Given the description of an element on the screen output the (x, y) to click on. 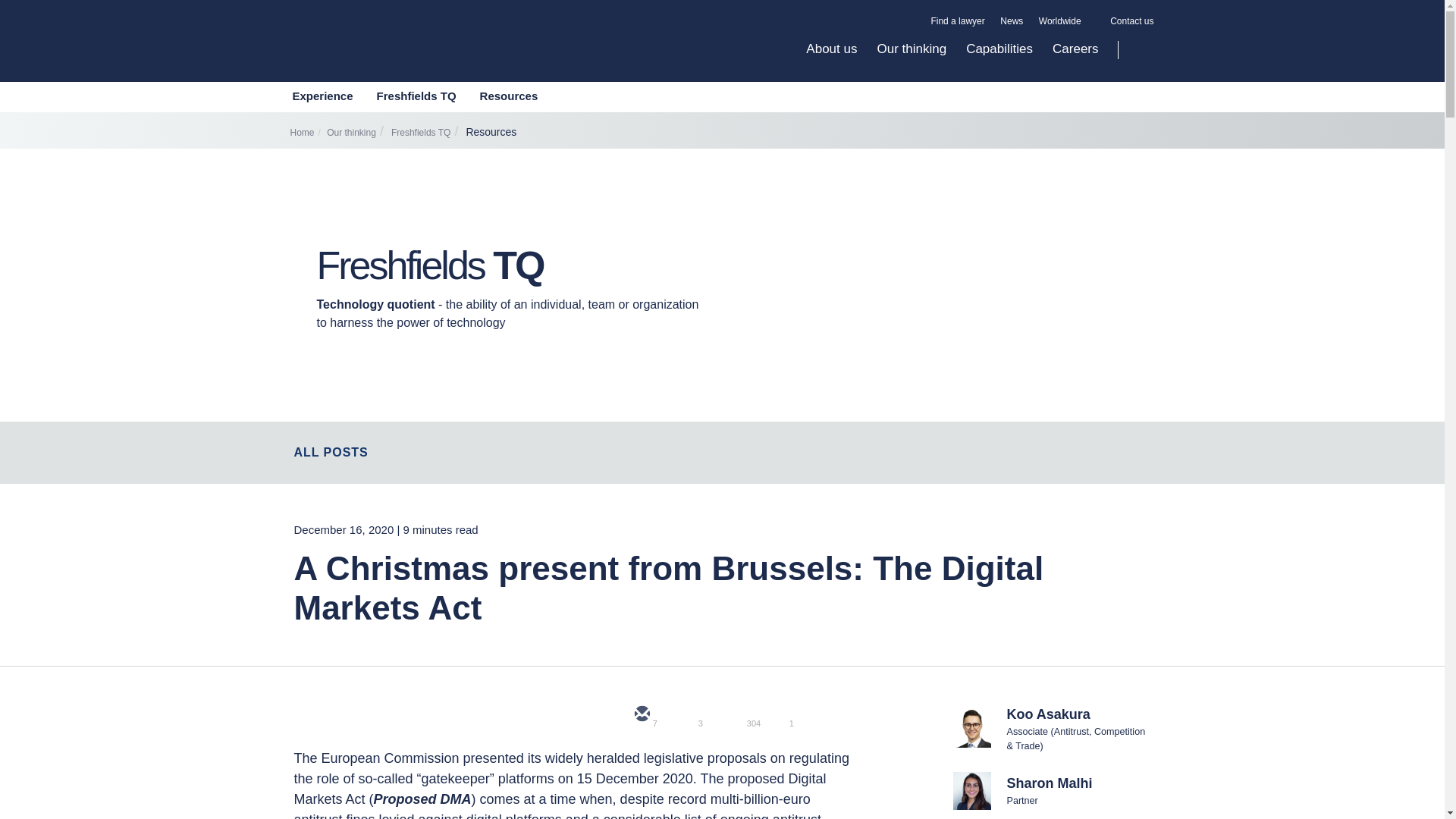
Capabilities (999, 60)
Contact us (1131, 21)
Worldwide (1066, 21)
Search (1136, 49)
About us (831, 60)
News (1011, 21)
Freshfields Bruckhaus Deringer (423, 56)
Careers (1069, 60)
Our thinking (911, 60)
Find a lawyer (957, 21)
